Given the description of an element on the screen output the (x, y) to click on. 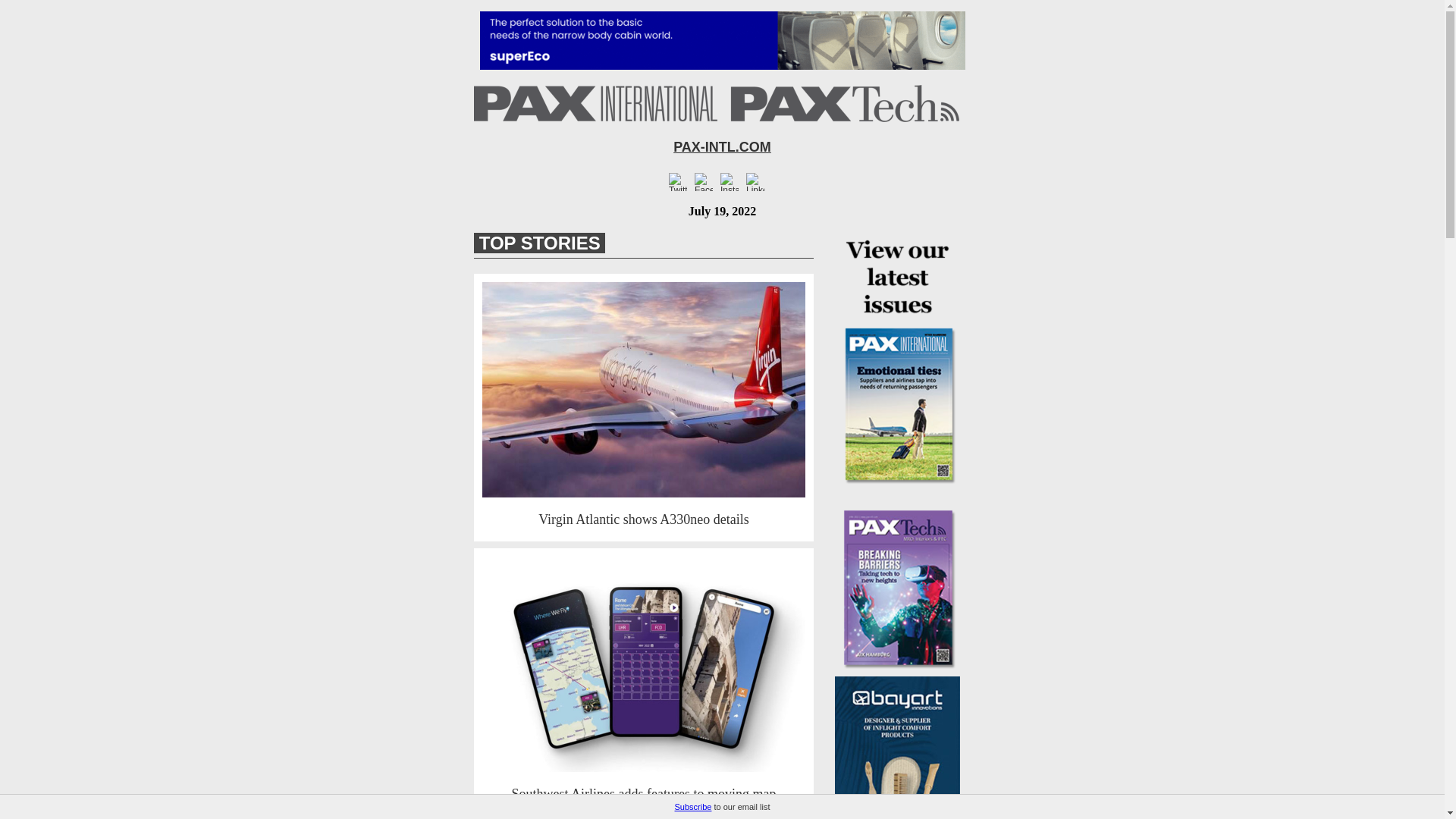
PAX-INTL.COM (721, 146)
Subscribe (693, 806)
